Given the description of an element on the screen output the (x, y) to click on. 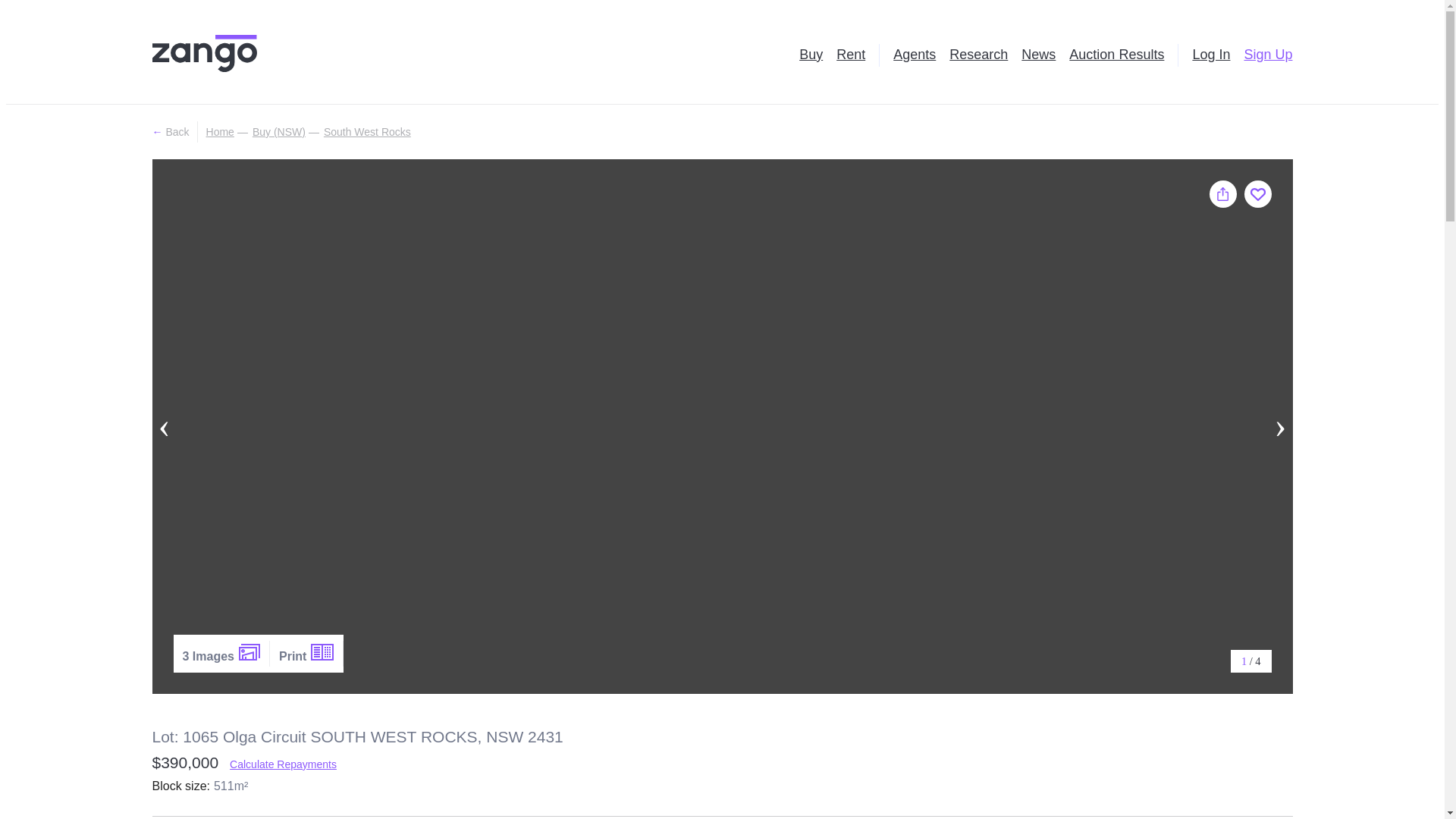
Agents (914, 54)
Property brochure icon (322, 651)
PrintProperty brochure icon (306, 653)
3 ImagesProperty images icon (221, 653)
Calculate Repayments (283, 764)
Auction Results (1115, 54)
Sign Up (1267, 54)
News (1038, 54)
Home (220, 132)
Zango Logo (203, 55)
